Given the description of an element on the screen output the (x, y) to click on. 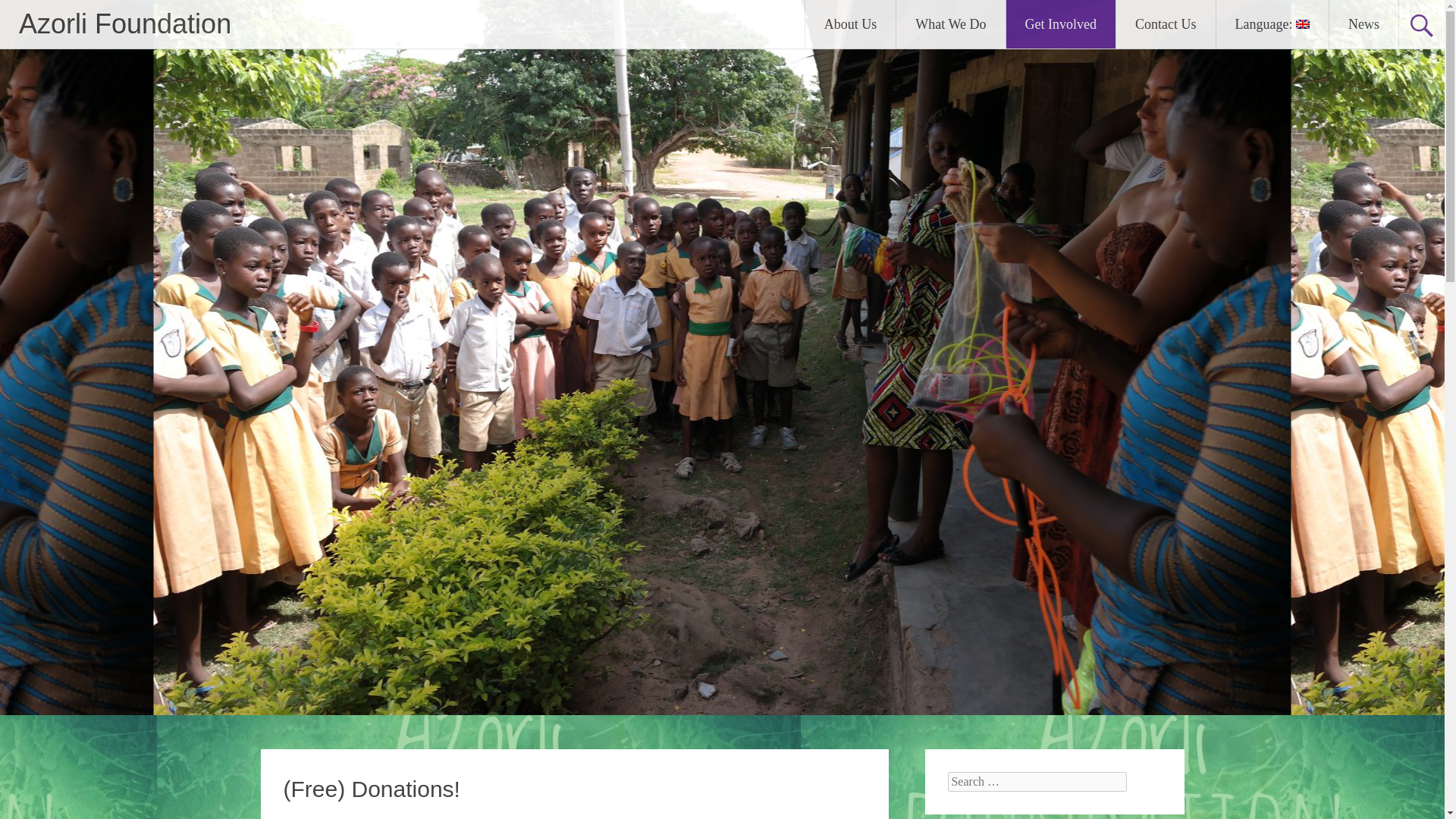
Language:  (1271, 24)
Search (26, 12)
Get Involved (1060, 24)
Contact Us (1165, 24)
News (1363, 24)
English (1271, 24)
Azorli Foundation (124, 23)
What We Do (950, 24)
Azorli Foundation (124, 23)
About Us (850, 24)
